Given the description of an element on the screen output the (x, y) to click on. 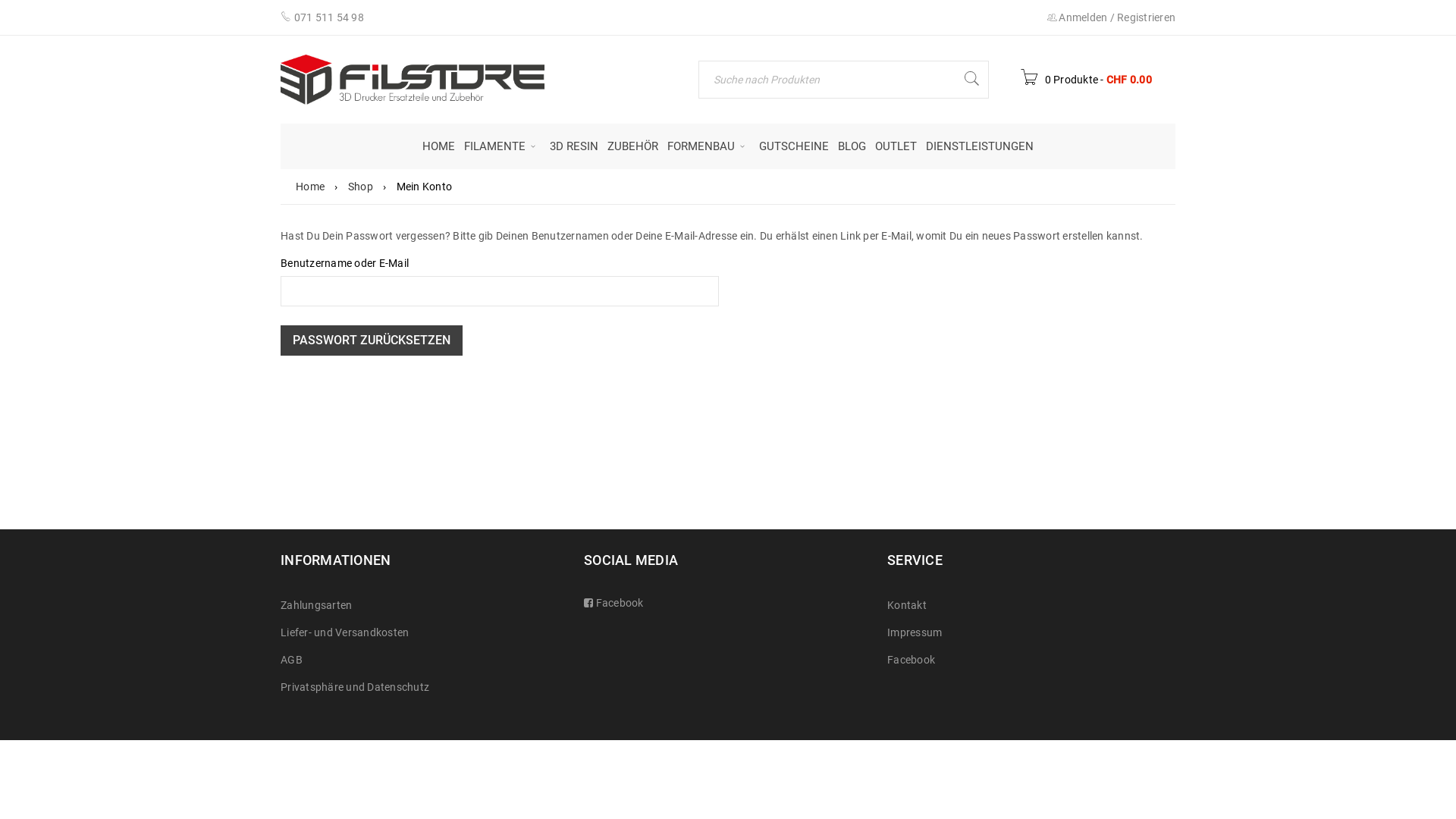
 Facebook Element type: text (618, 602)
DIENSTLEISTUNGEN Element type: text (979, 146)
Suche Element type: text (971, 79)
FORMENBAU Element type: text (708, 146)
Shop Element type: text (360, 186)
0 Produkte - CHF 0.00 Element type: text (1085, 79)
Kontakt Element type: text (906, 605)
Liefer- und Versandkosten Element type: text (344, 632)
Impressum Element type: text (914, 632)
FILAMENTE Element type: text (502, 146)
3D Filstore Element type: hover (412, 79)
HOME Element type: text (438, 146)
BLOG Element type: text (851, 146)
AGB Element type: text (291, 659)
Registrieren Element type: text (1146, 17)
GUTSCHEINE Element type: text (793, 146)
Anmelden Element type: text (1082, 17)
Zahlungsarten Element type: text (315, 605)
Facebook Element type: text (911, 659)
OUTLET Element type: text (895, 146)
Home Element type: text (309, 186)
3D RESIN Element type: text (573, 146)
